Given the description of an element on the screen output the (x, y) to click on. 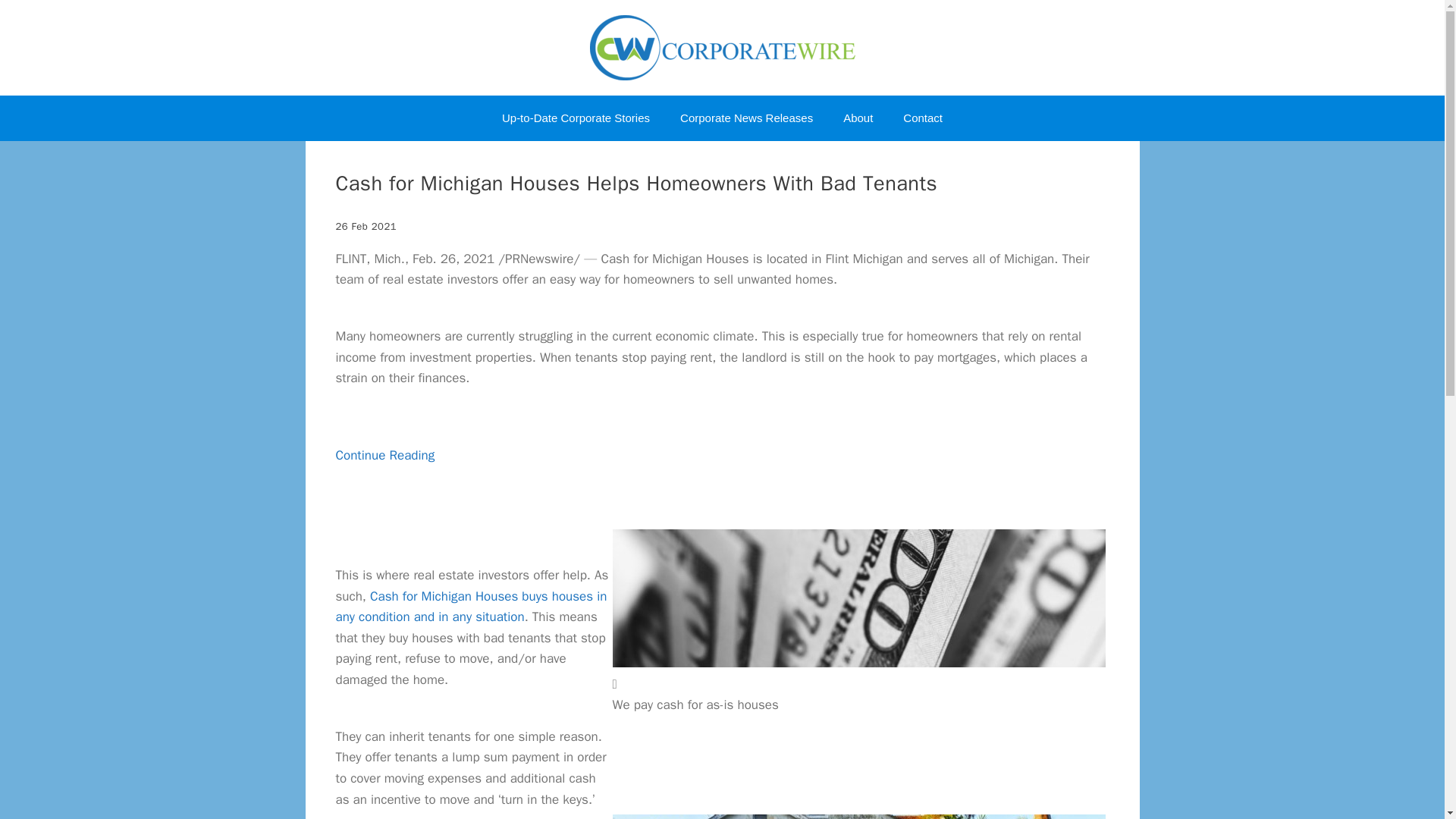
Contact (923, 117)
Continue Reading (383, 476)
About (858, 117)
Continue Reading (383, 476)
We pay cash for as-is houses (858, 598)
Up-to-Date Corporate Stories (575, 117)
Corporate News Releases (746, 117)
